Given the description of an element on the screen output the (x, y) to click on. 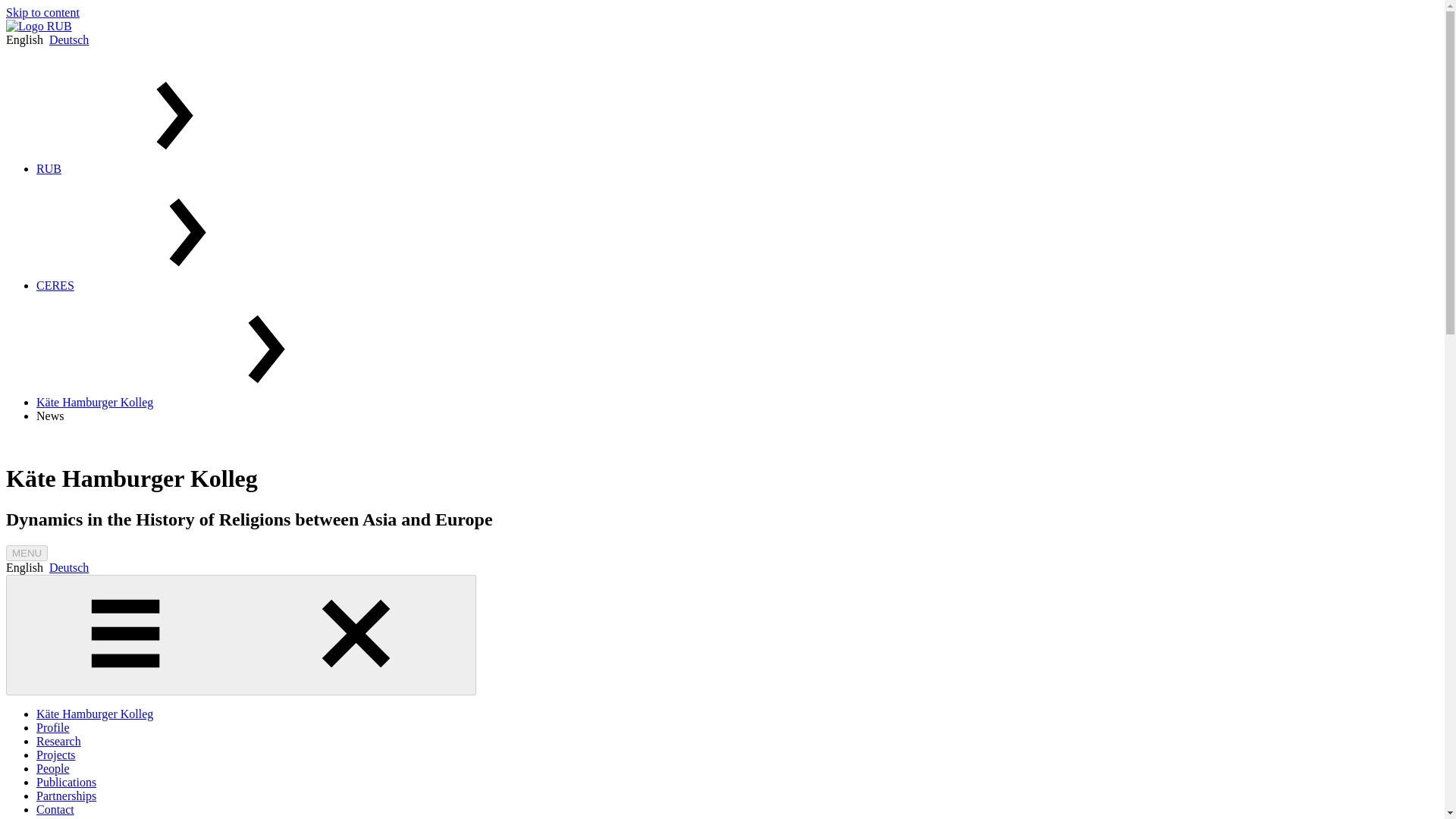
Research (58, 740)
RUB (48, 168)
CERES (55, 285)
MENU (26, 553)
Projects (55, 754)
Partnerships (66, 795)
Skip to content (42, 11)
People (52, 768)
Change to language: Deutsch (68, 567)
Deutsch (68, 39)
